Given the description of an element on the screen output the (x, y) to click on. 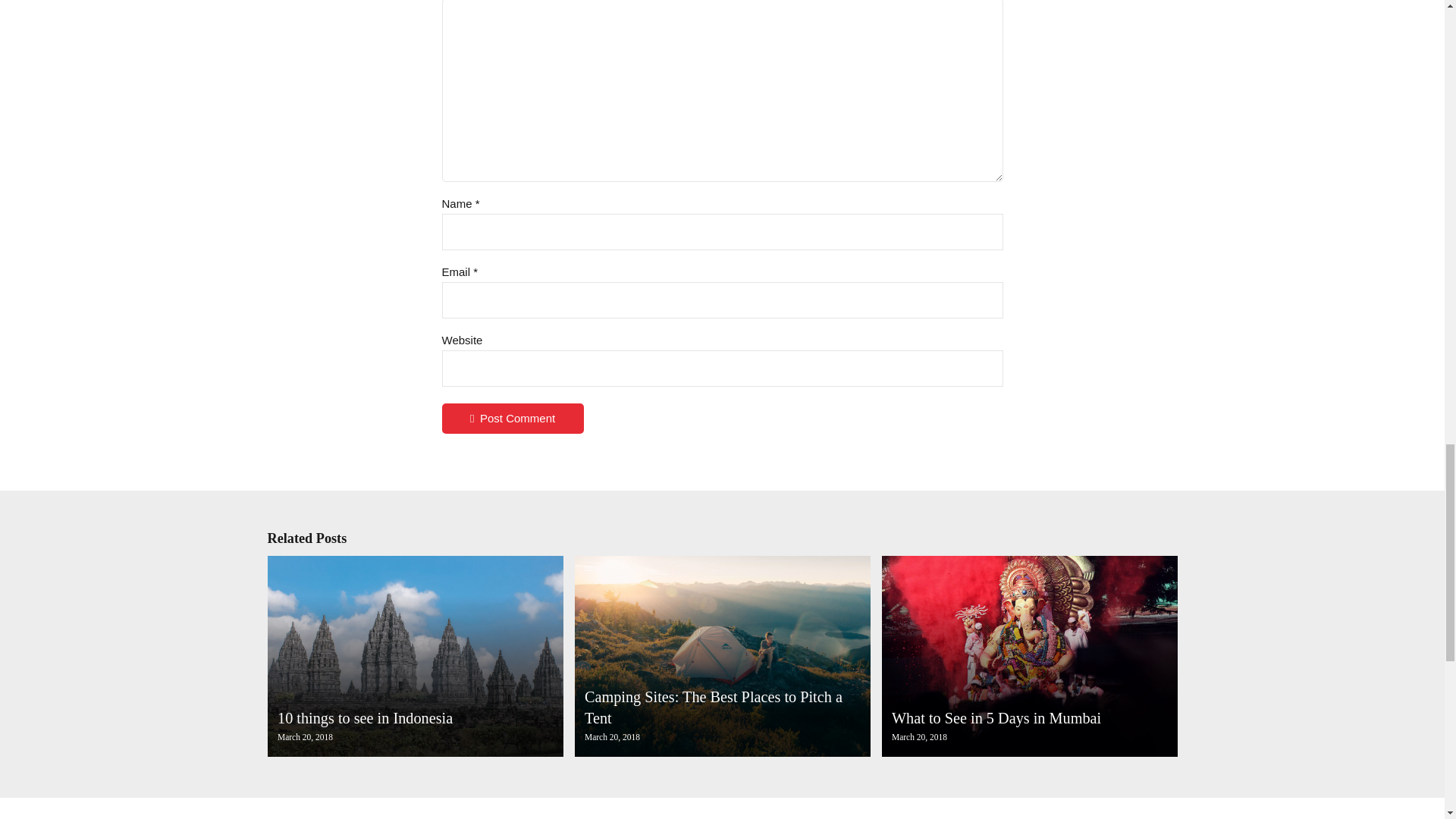
Post Comment (512, 418)
What to See in 5 Days in Mumbai (1026, 656)
Camping Sites: The Best Places to Pitch a Tent (714, 707)
10 things to see in Indonesia (365, 718)
Camping Sites: The Best Places to Pitch a Tent (714, 707)
10 things to see in Indonesia (365, 718)
What to See in 5 Days in Mumbai (995, 718)
10 things to see in Indonesia (412, 656)
Camping Sites: The Best Places to Pitch a Tent (719, 656)
What to See in 5 Days in Mumbai (995, 718)
